Given the description of an element on the screen output the (x, y) to click on. 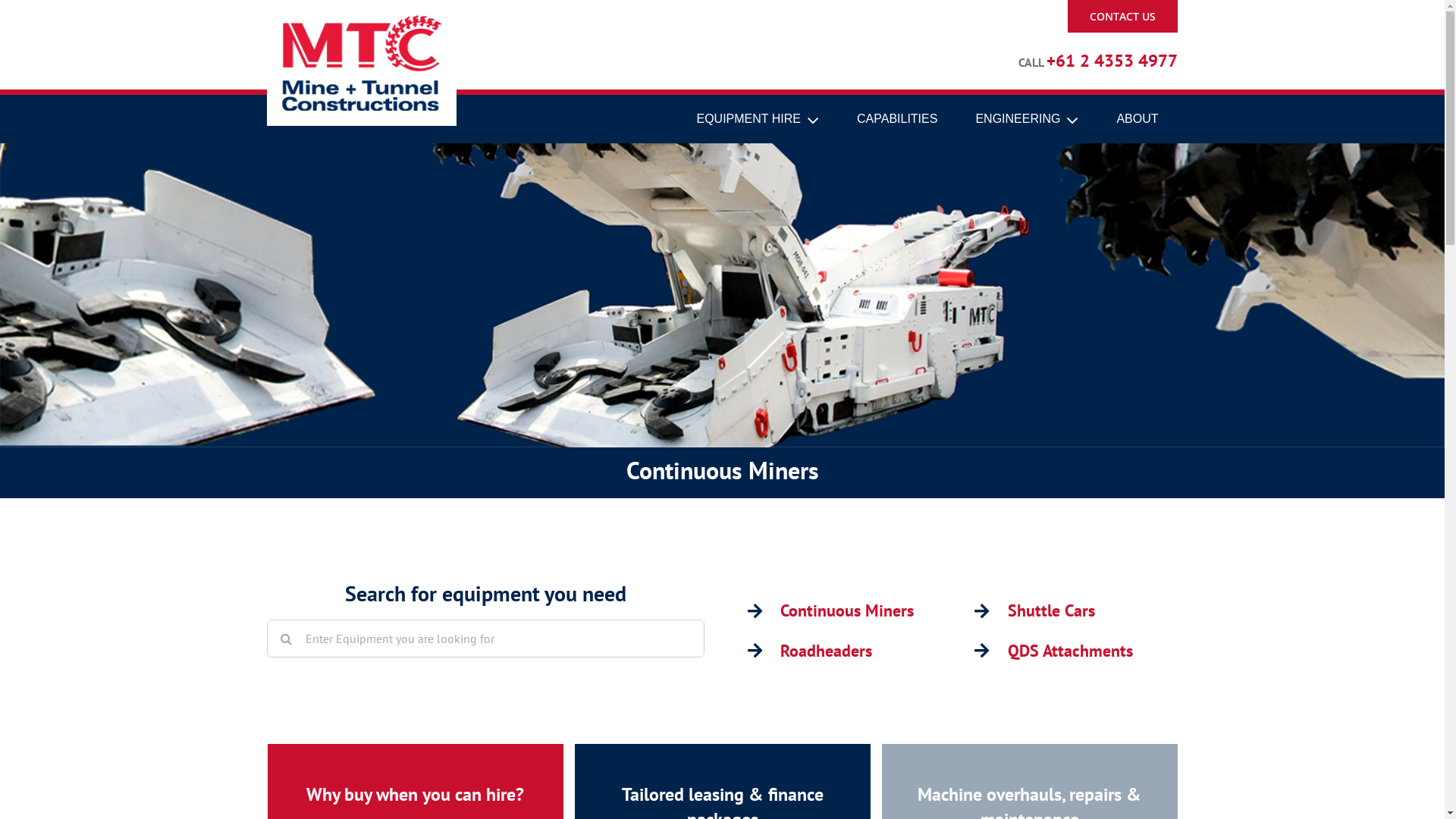
EQUIPMENT HIRE Element type: text (757, 119)
Shuttle Cars Element type: text (1051, 610)
CONTACT US Element type: text (1122, 16)
Roadheaders Element type: text (826, 650)
QDS Attachments Element type: text (1069, 650)
ABOUT Element type: text (1136, 119)
Continuous Miners Element type: text (846, 610)
+61 2 4353 4977 Element type: text (1111, 61)
ENGINEERING Element type: text (1026, 119)
CAPABILITIES Element type: text (896, 119)
